Given the description of an element on the screen output the (x, y) to click on. 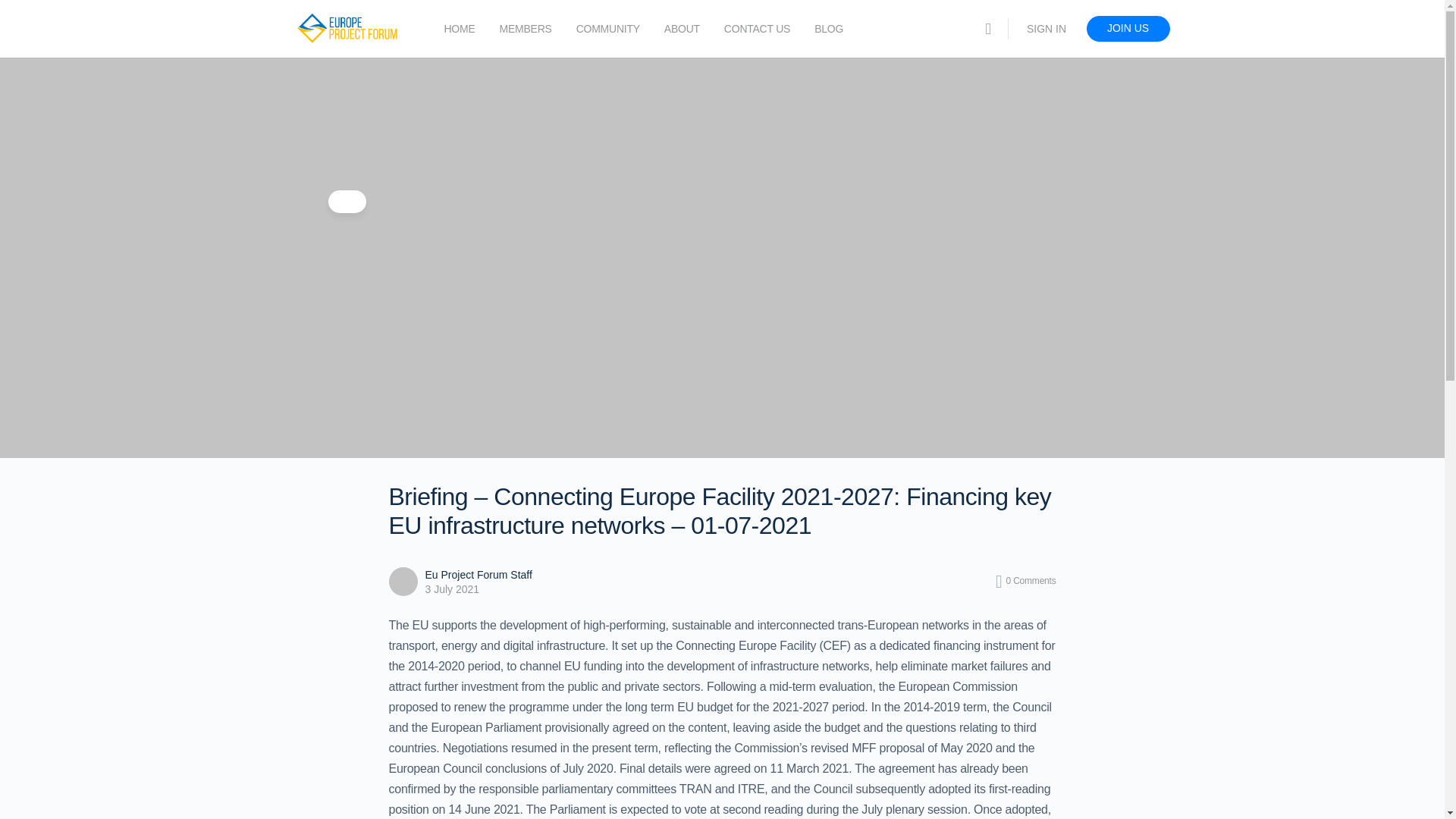
JOIN US (1127, 28)
MEMBERS (525, 28)
Eu Project Forum Staff (478, 574)
CONTACT US (756, 28)
3 July 2021 (452, 589)
COMMUNITY (608, 28)
SIGN IN (1046, 28)
0 Comments (1026, 580)
